Given the description of an element on the screen output the (x, y) to click on. 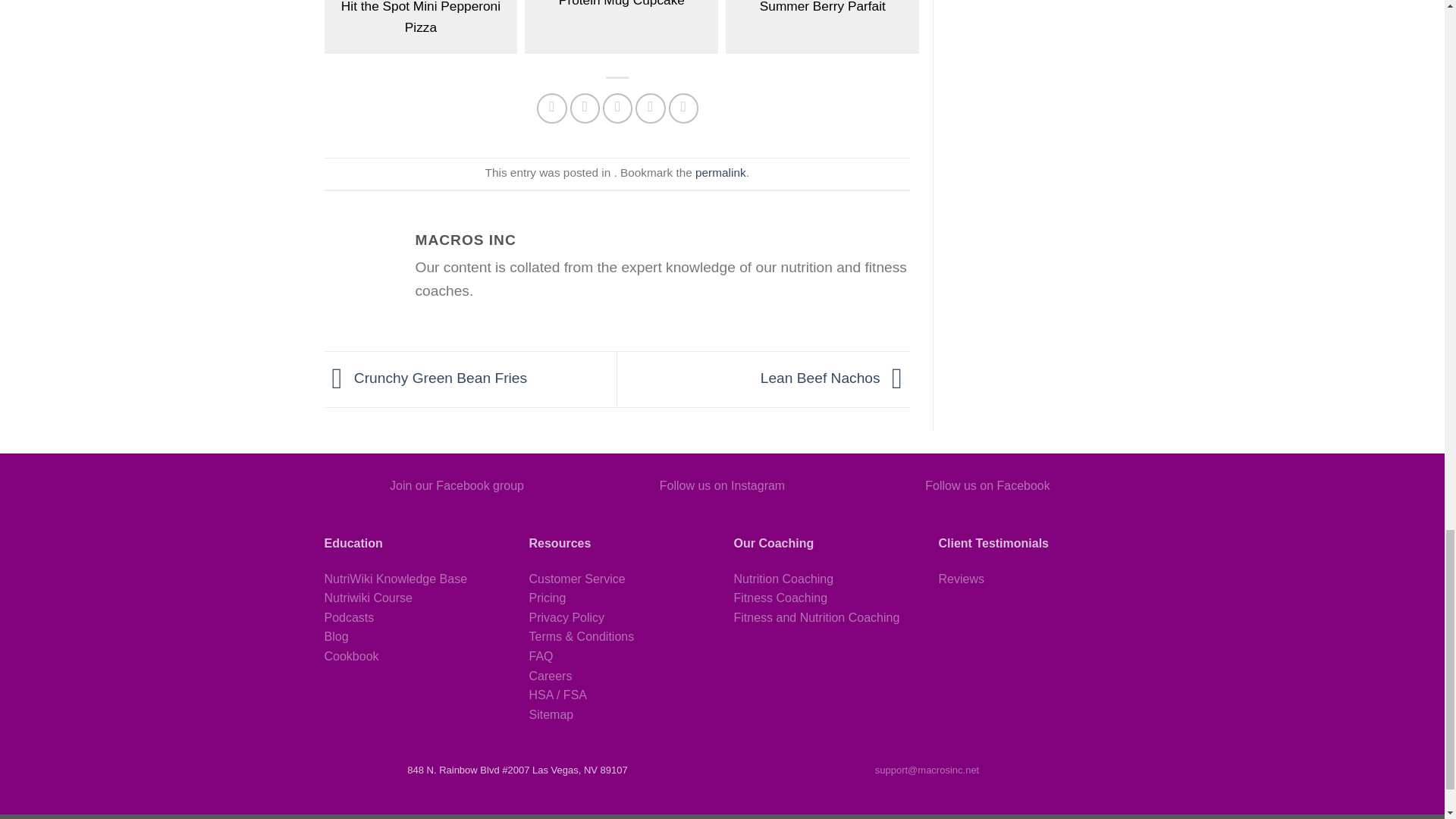
Email to a Friend (617, 108)
Share on LinkedIn (683, 108)
Share on Twitter (584, 108)
Permalink to Spicy Wasabi Ranch Dip (720, 172)
Pin on Pinterest (649, 108)
Share on Facebook (552, 108)
